Given the description of an element on the screen output the (x, y) to click on. 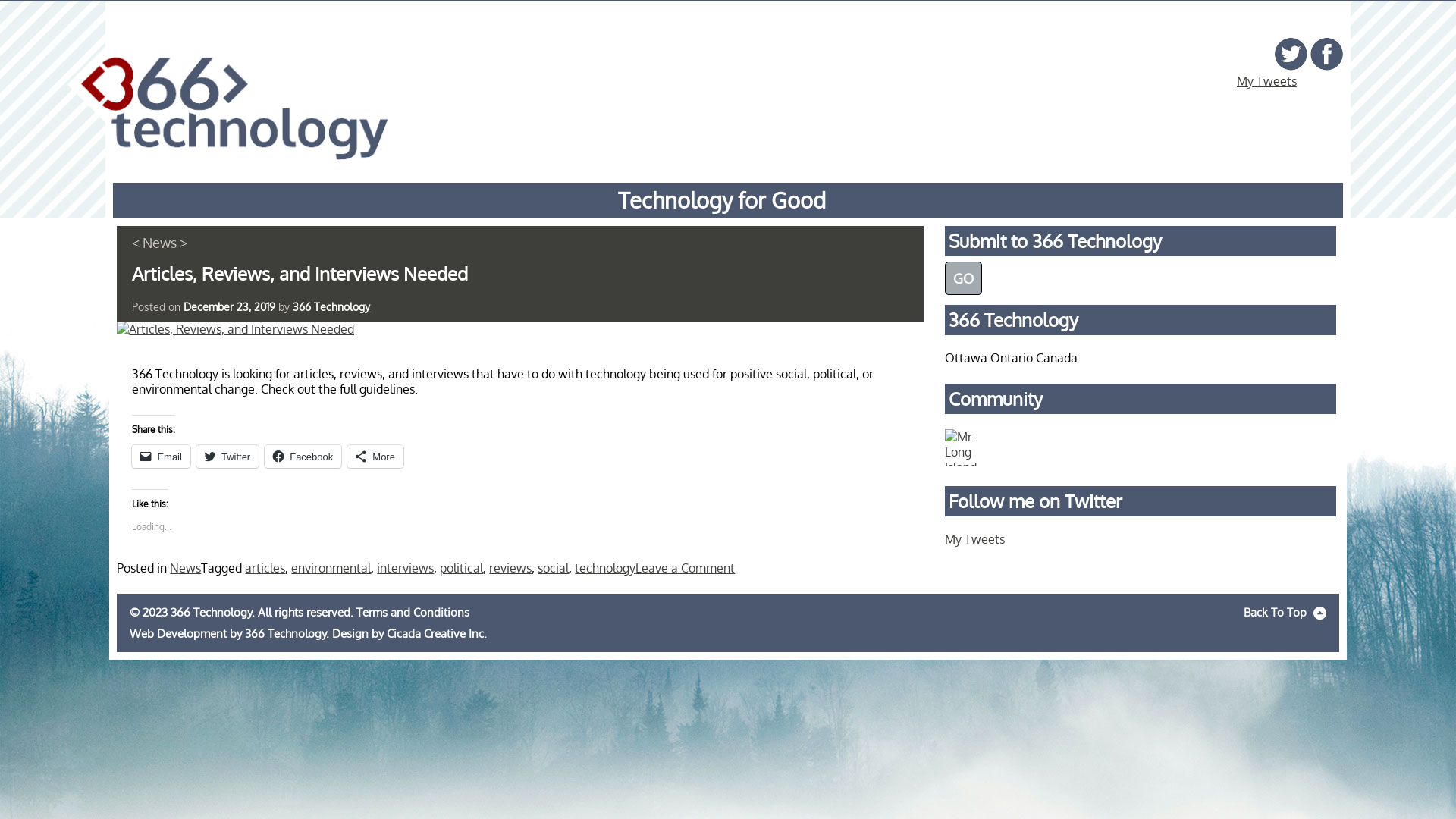
Skip to content Element type: text (116, 225)
Cicada Creative Inc. Element type: text (436, 633)
366 Technology Element type: text (228, 98)
366 Technology Element type: text (284, 633)
technology Element type: text (604, 567)
More Element type: text (375, 456)
articles Element type: text (264, 567)
political Element type: text (461, 567)
social Element type: text (552, 567)
Facebook Element type: text (302, 456)
366 Technology Element type: text (331, 306)
News Element type: text (184, 567)
My Tweets Element type: text (1266, 80)
My Tweets Element type: text (974, 538)
reviews Element type: text (510, 567)
environmental Element type: text (330, 567)
GO Element type: text (963, 277)
December 23, 2019 Element type: text (229, 306)
Mr. Long Island Element type: hover (962, 445)
Email Element type: text (160, 456)
Terms and Conditions Element type: text (412, 611)
interviews Element type: text (404, 567)
Back To Top Element type: text (1285, 611)
Leave a Comment
on Articles, Reviews, and Interviews Needed Element type: text (684, 567)
Twitter Element type: text (227, 456)
Articles, Reviews, and Interviews Needed Element type: text (299, 273)
